Given the description of an element on the screen output the (x, y) to click on. 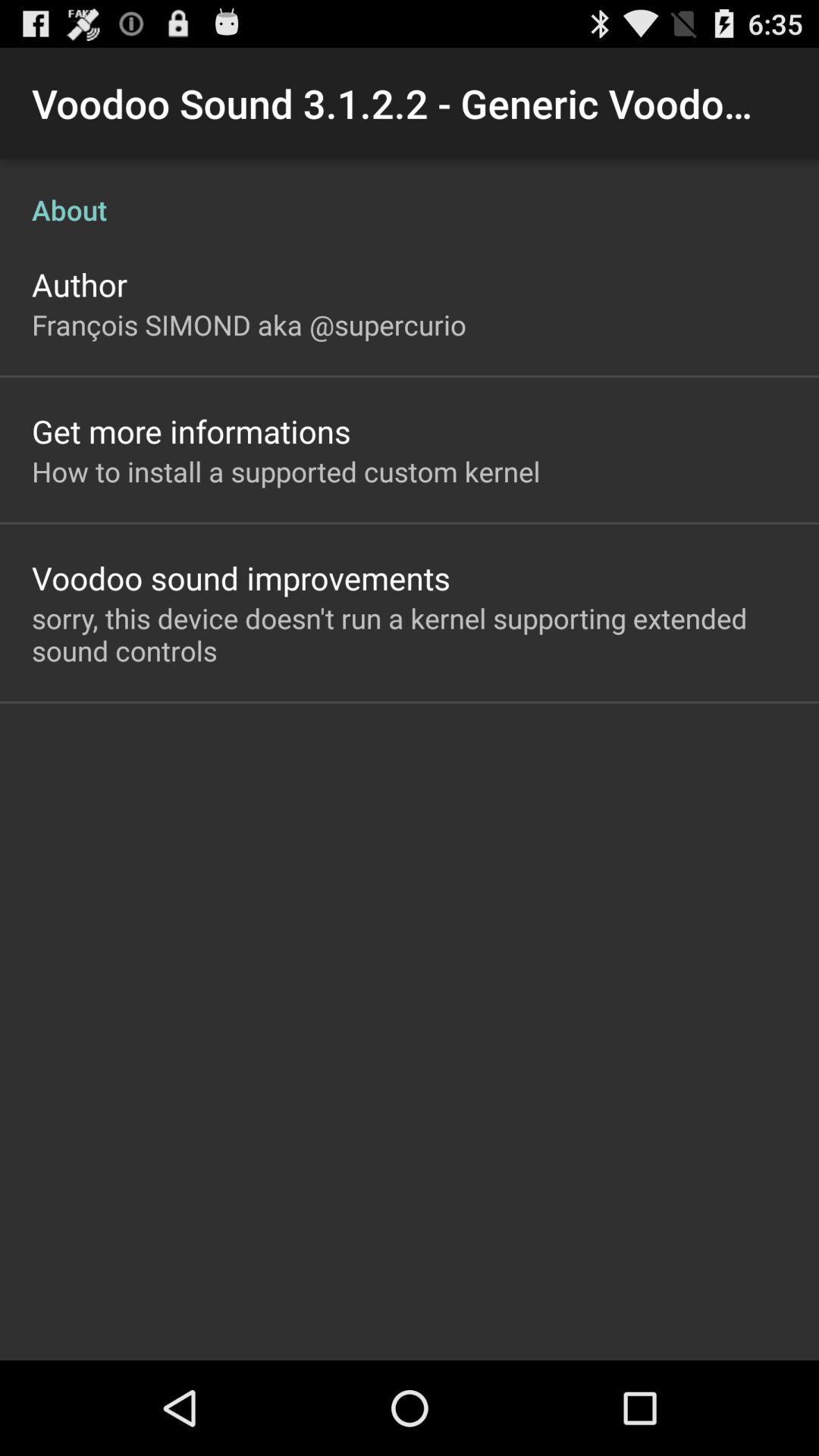
launch icon above the voodoo sound improvements app (285, 471)
